Given the description of an element on the screen output the (x, y) to click on. 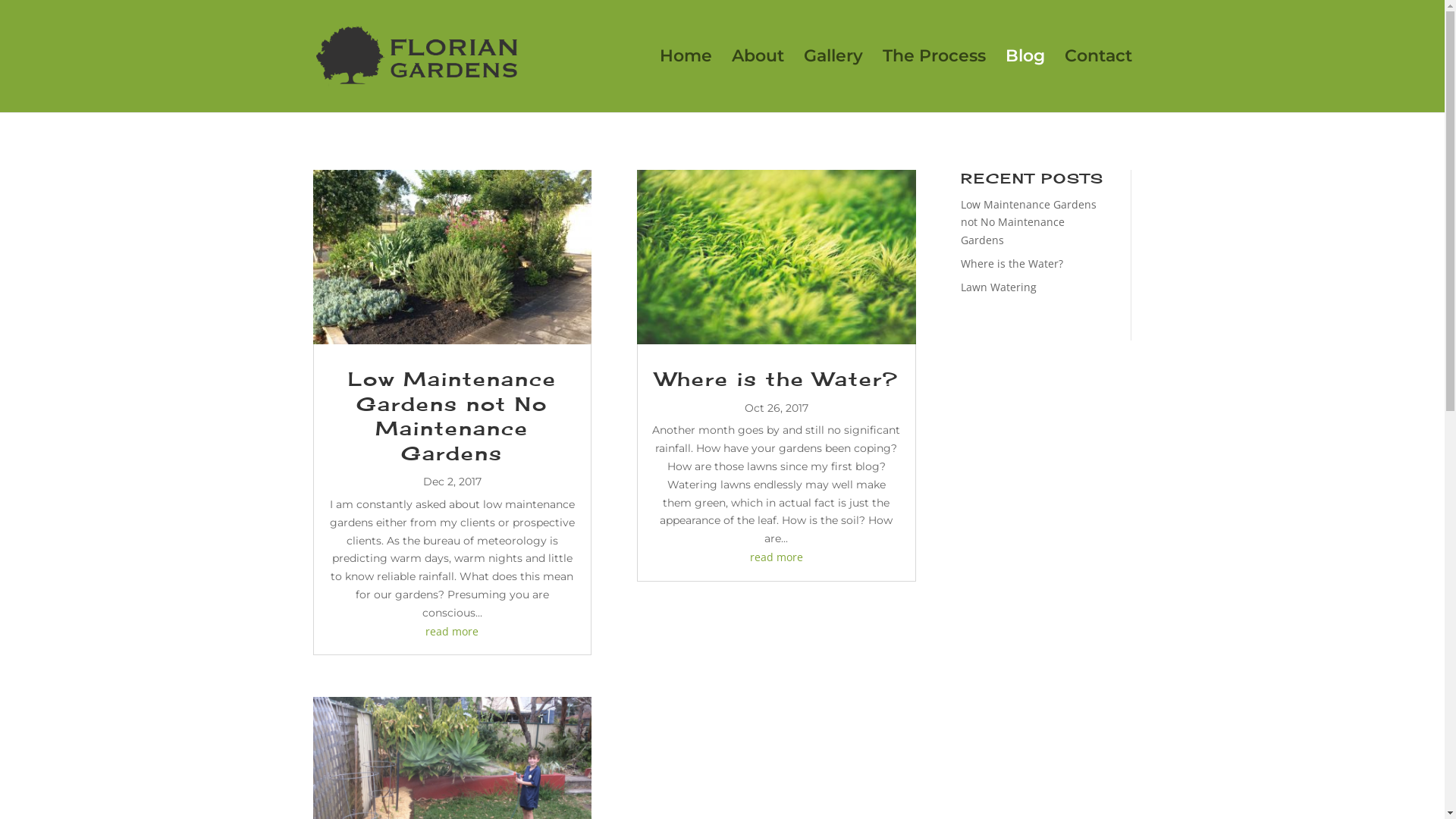
Low Maintenance Gardens not No Maintenance Gardens Element type: text (1028, 222)
Lawn Watering Element type: text (998, 286)
Low Maintenance Gardens not No Maintenance Gardens Element type: text (452, 415)
Where is the Water? Element type: text (1011, 263)
The Process Element type: text (933, 81)
Gallery Element type: text (832, 81)
Blog Element type: text (1024, 81)
About Element type: text (757, 81)
Home Element type: text (685, 81)
read more Element type: text (451, 630)
Where is the Water? Element type: text (776, 378)
read more Element type: text (776, 556)
Contact Element type: text (1098, 81)
